Given the description of an element on the screen output the (x, y) to click on. 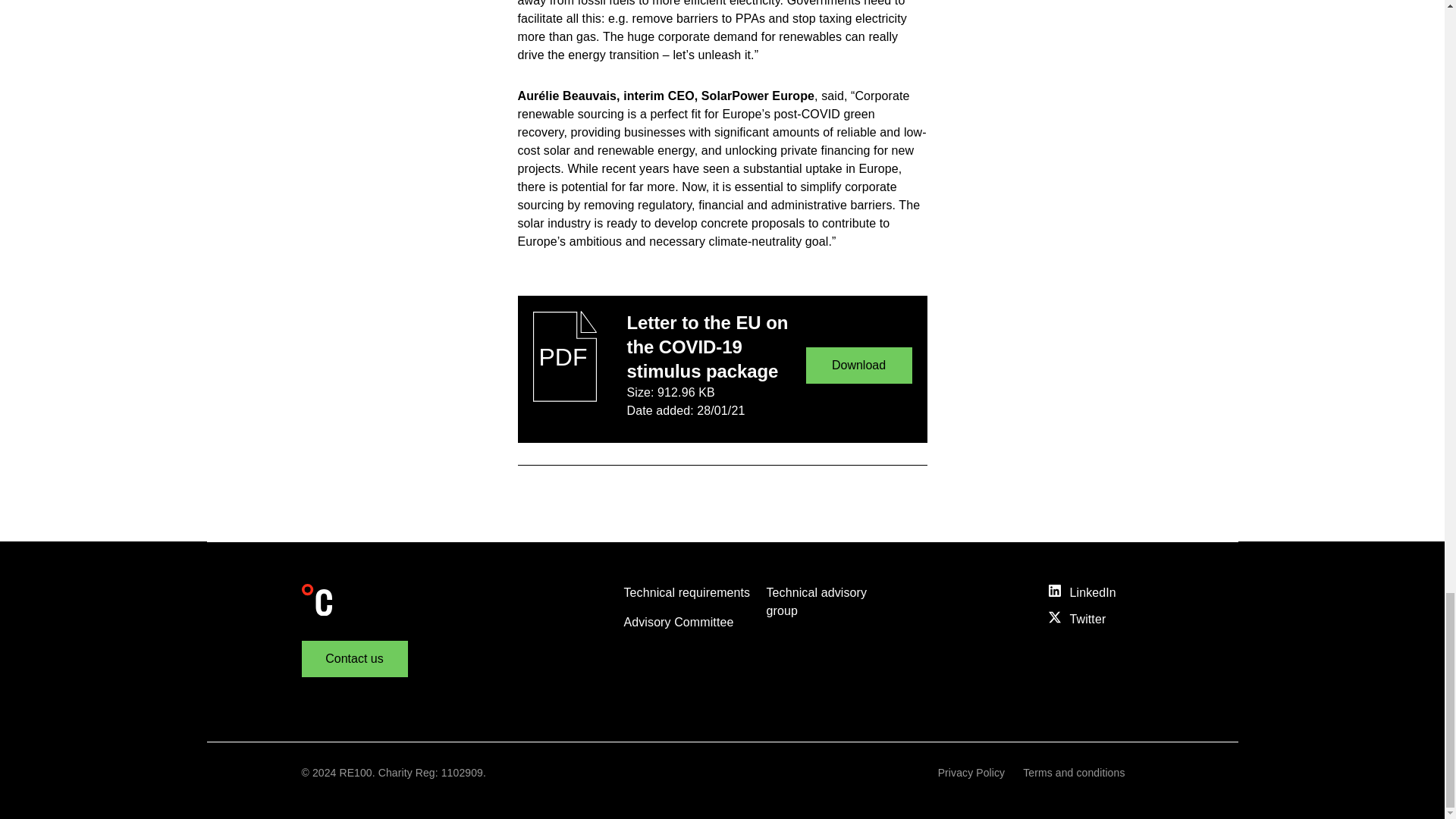
Contact us (354, 658)
Advisory Committee (678, 621)
Download (858, 365)
Contact us (354, 658)
Privacy Policy (971, 772)
Terms and conditions (1073, 772)
Technical requirements (686, 592)
LinkedIn (1095, 592)
Technical advisory group (815, 601)
Twitter (1095, 619)
Download (858, 364)
